Given the description of an element on the screen output the (x, y) to click on. 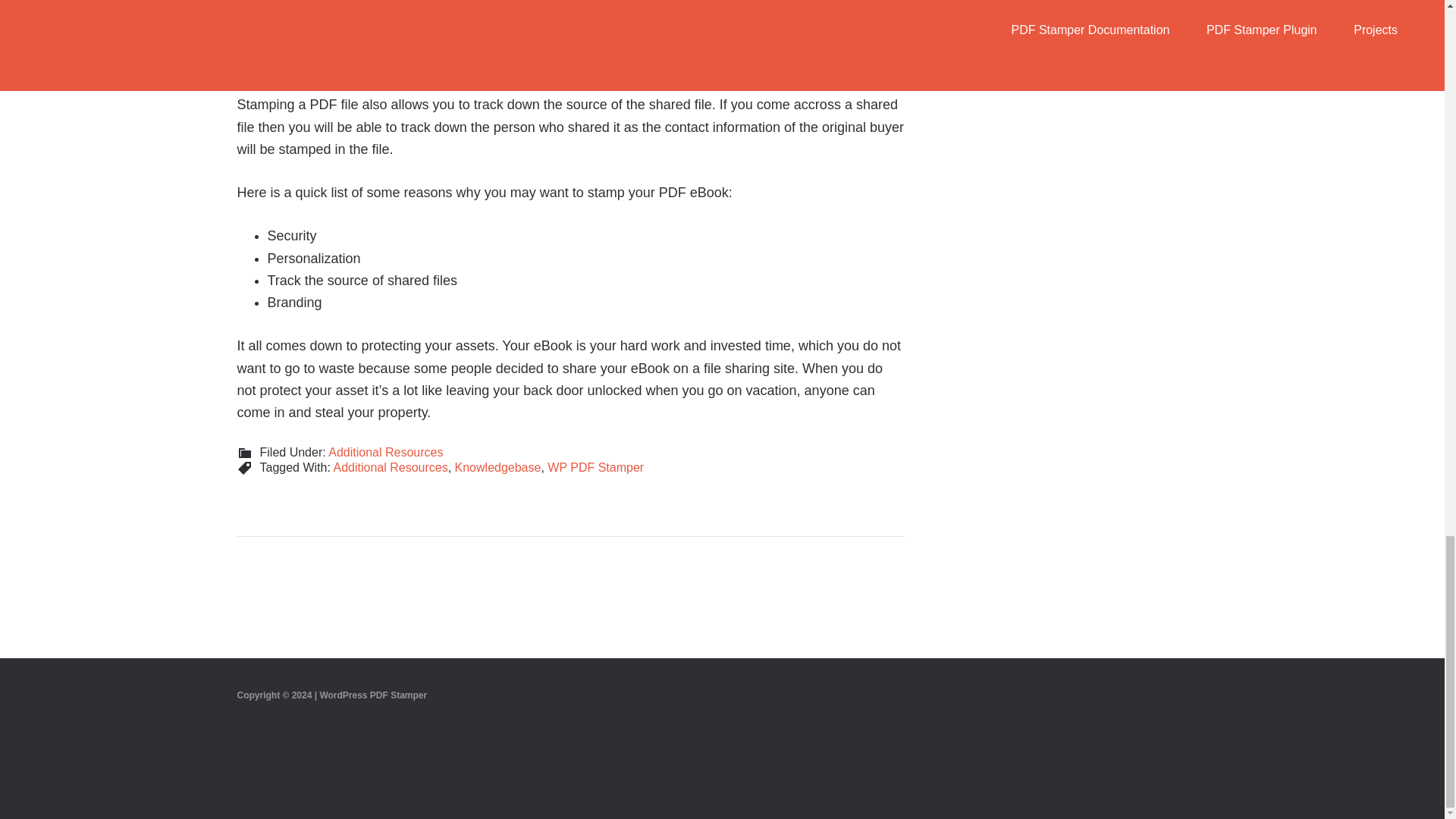
Knowledgebase (497, 467)
Additional Resources (385, 451)
WP PDF Stamper (595, 467)
WordPress PDF Stamper (372, 695)
Additional Resources (389, 467)
